Given the description of an element on the screen output the (x, y) to click on. 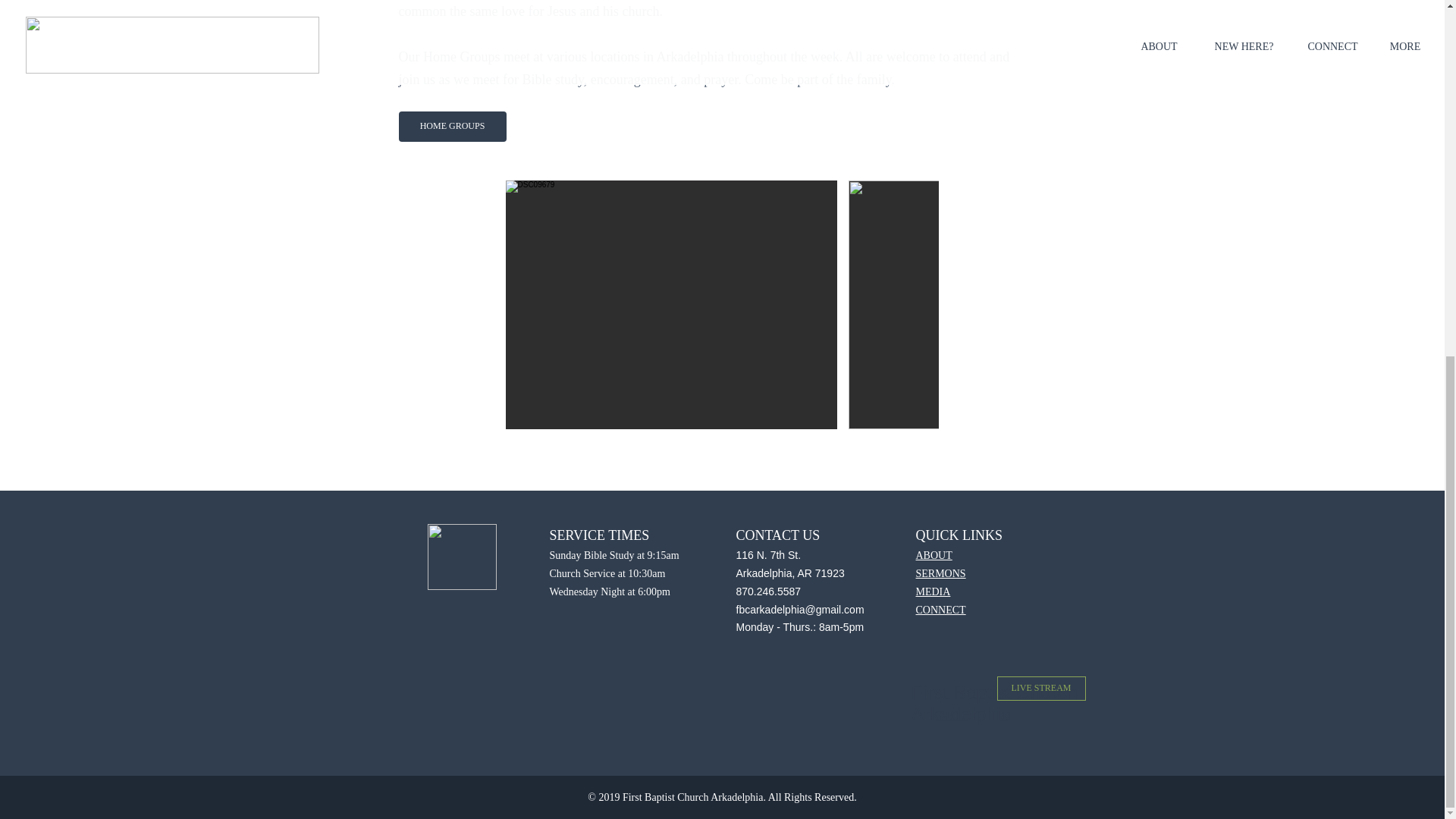
LIVE STREAM (1039, 688)
Arkadelphia, AR 71923 (789, 573)
116 N. 7th St. (767, 554)
CONNECT (940, 609)
SERMONS (940, 573)
HOME GROUPS (452, 126)
ABOUT (933, 554)
MEDIA (932, 591)
870.246.5587 (767, 591)
